Given the description of an element on the screen output the (x, y) to click on. 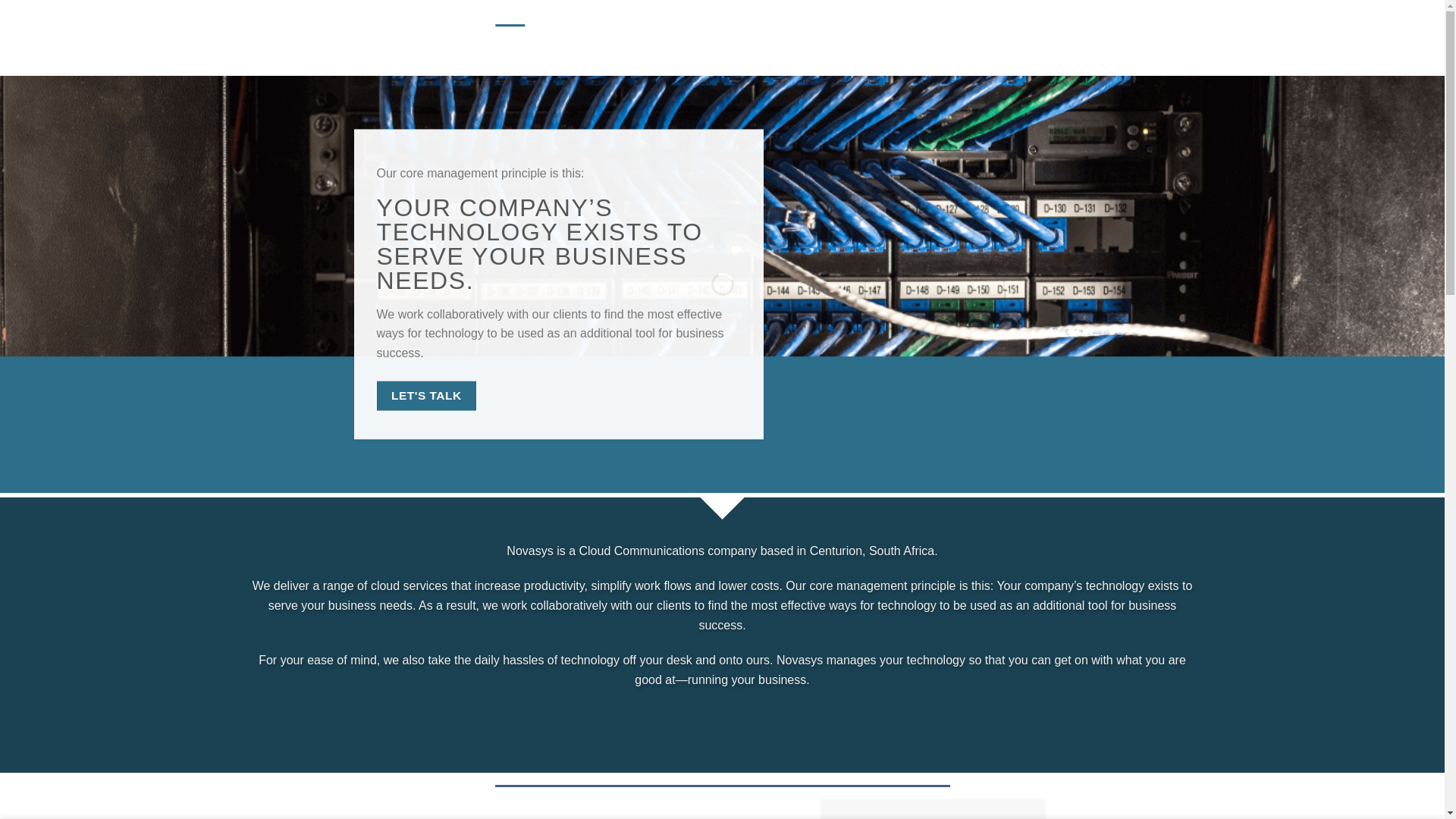
HOME (509, 37)
LET'S TALK (425, 396)
CONTACT (559, 37)
